Given the description of an element on the screen output the (x, y) to click on. 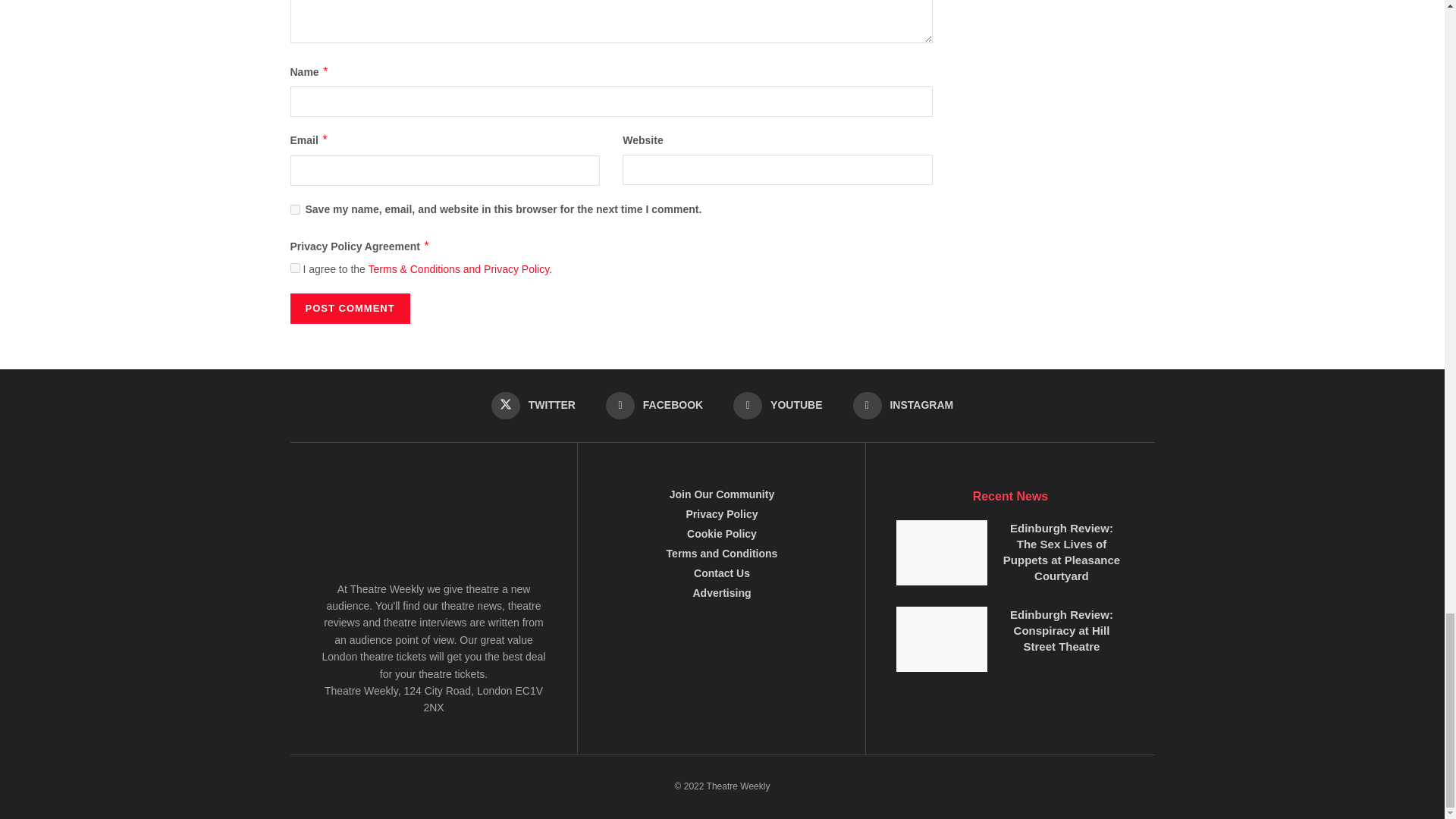
yes (294, 208)
on (294, 267)
Post Comment (349, 308)
